Given the description of an element on the screen output the (x, y) to click on. 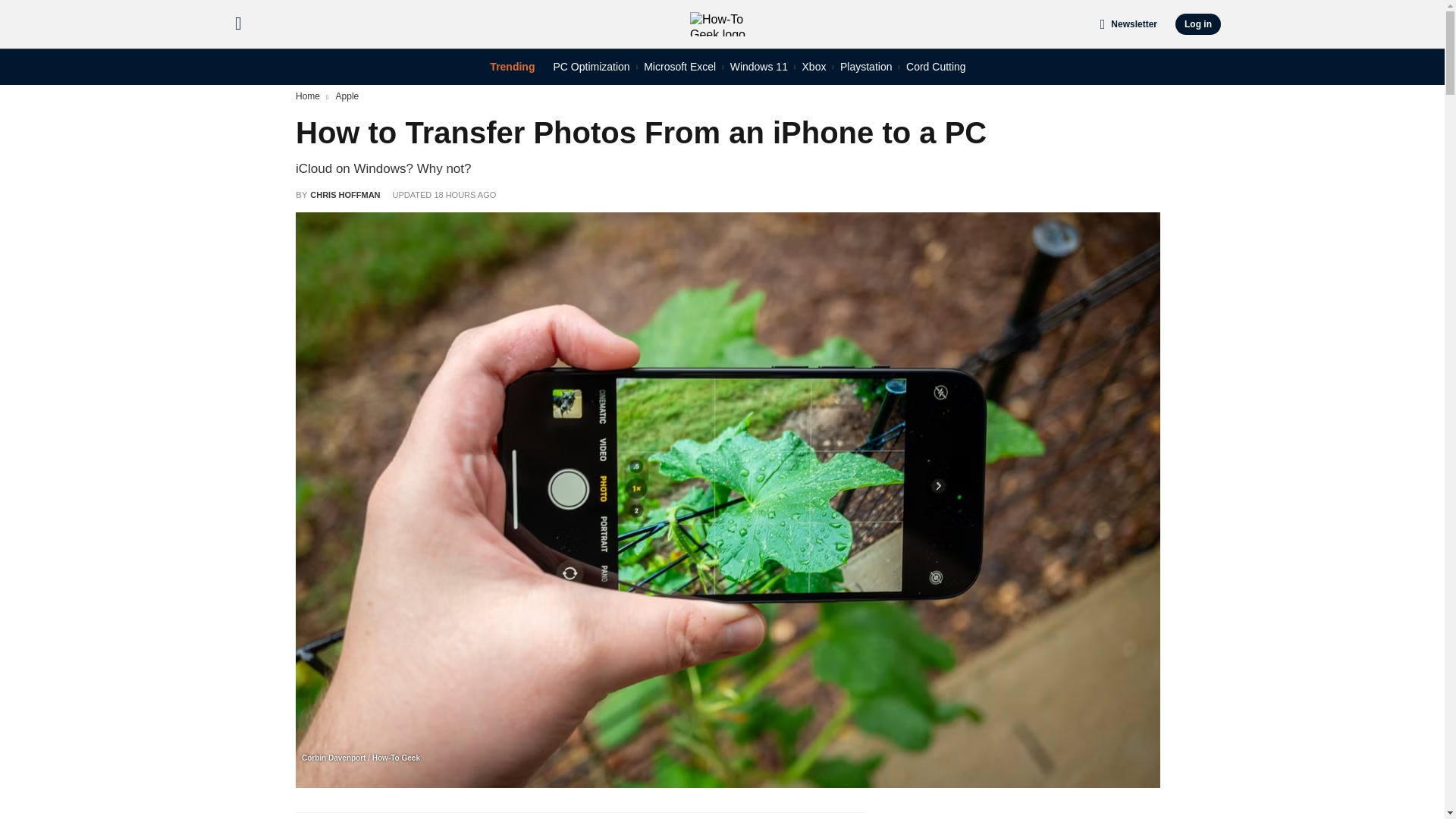
Xbox (814, 66)
PC Optimization (590, 66)
Newsletter (1128, 23)
Playstation (865, 66)
How-To Geek (727, 24)
Cord Cutting (935, 66)
Windows 11 (758, 66)
Microsoft Excel (679, 66)
